Given the description of an element on the screen output the (x, y) to click on. 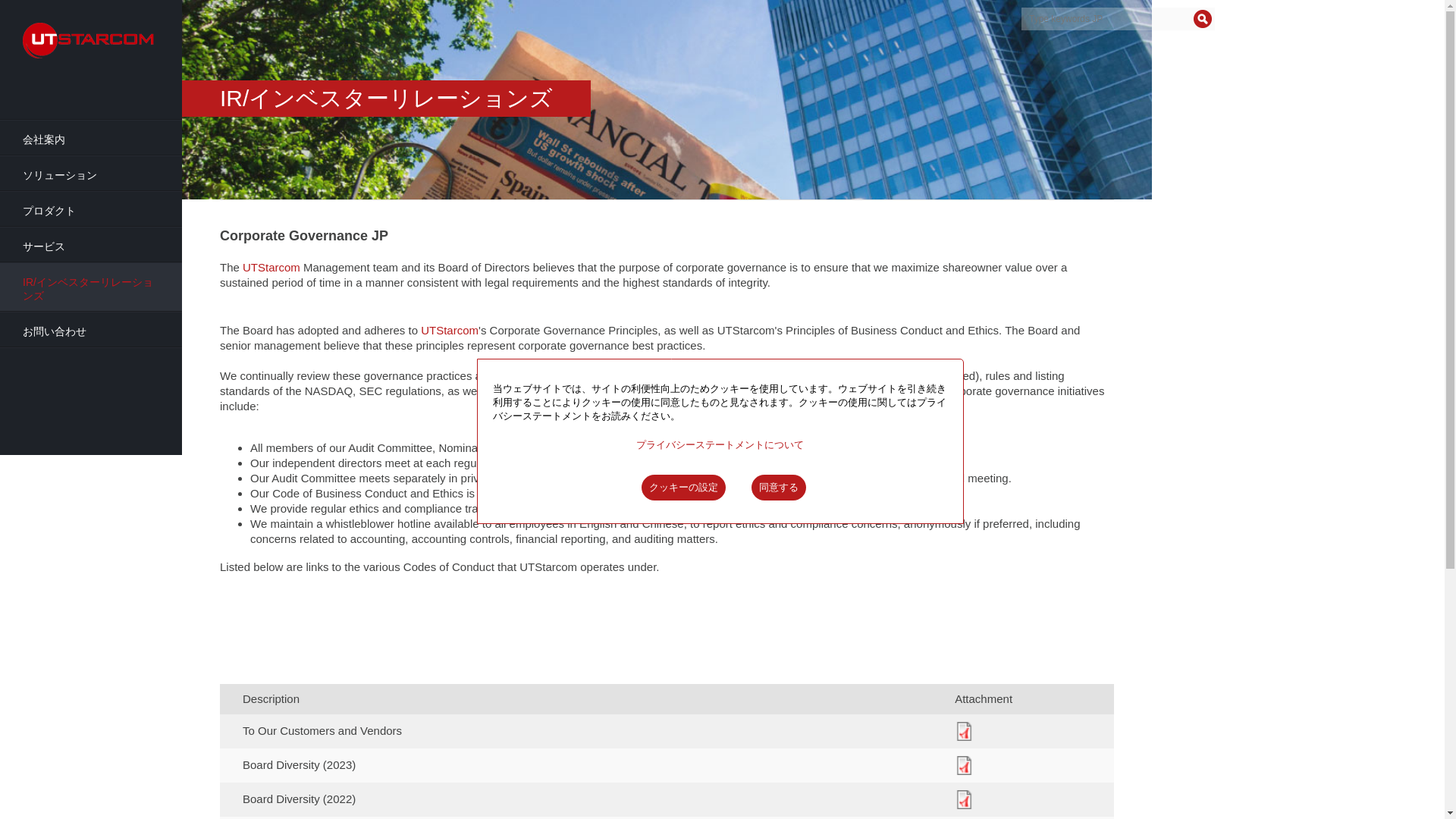
UTStarcom (271, 267)
Search JP (1202, 18)
Enter the terms you wish to search for. (1118, 18)
Search JP (1202, 18)
UTStarcom (449, 329)
